Given the description of an element on the screen output the (x, y) to click on. 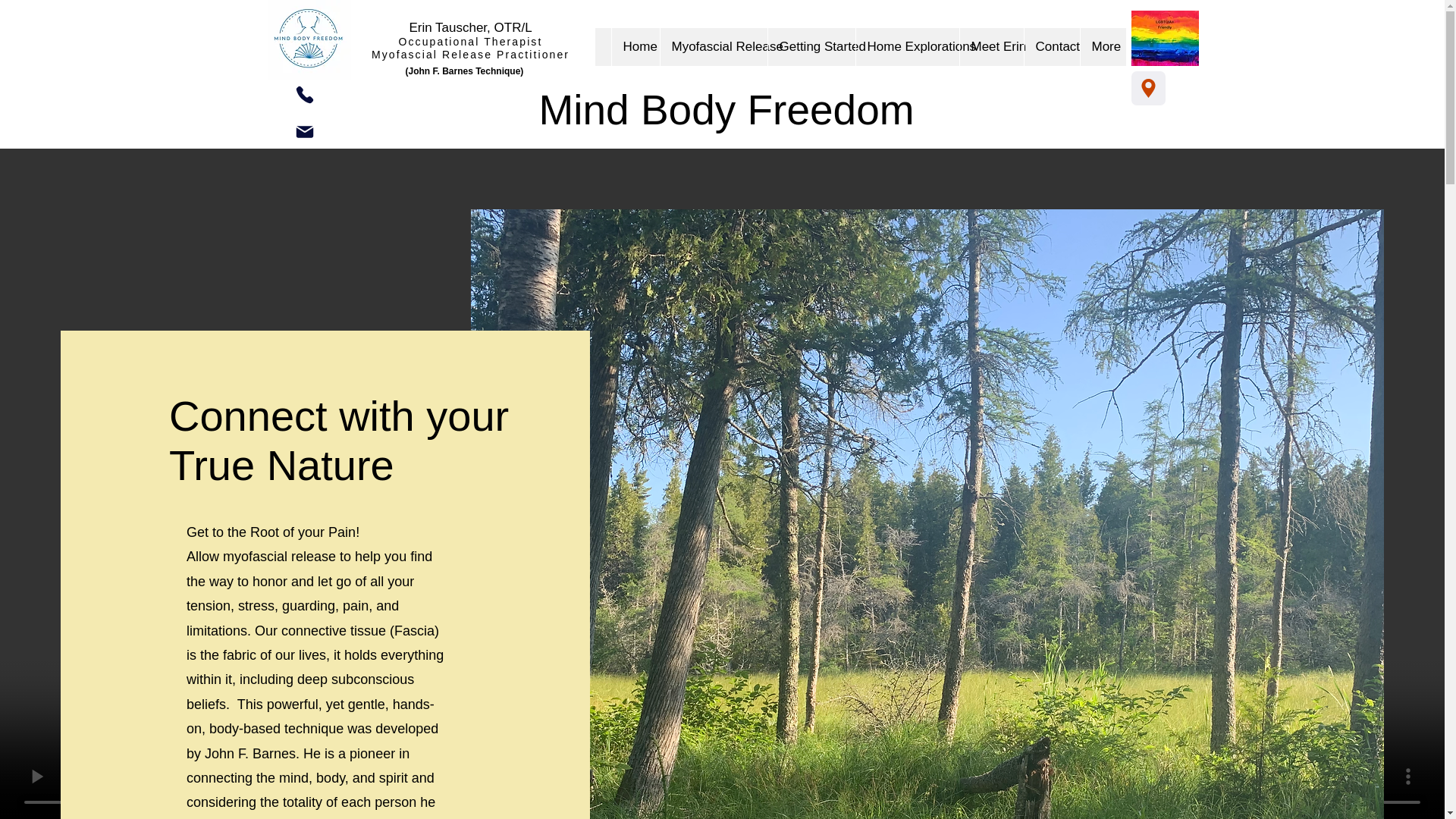
Occupational Therapist (470, 41)
Meet Erin (990, 46)
Getting Started (811, 46)
Home (635, 46)
Myofascial Release Practitioner (470, 54)
Home Explorations (907, 46)
Myofascial Release (713, 46)
Contact (1051, 46)
